Given the description of an element on the screen output the (x, y) to click on. 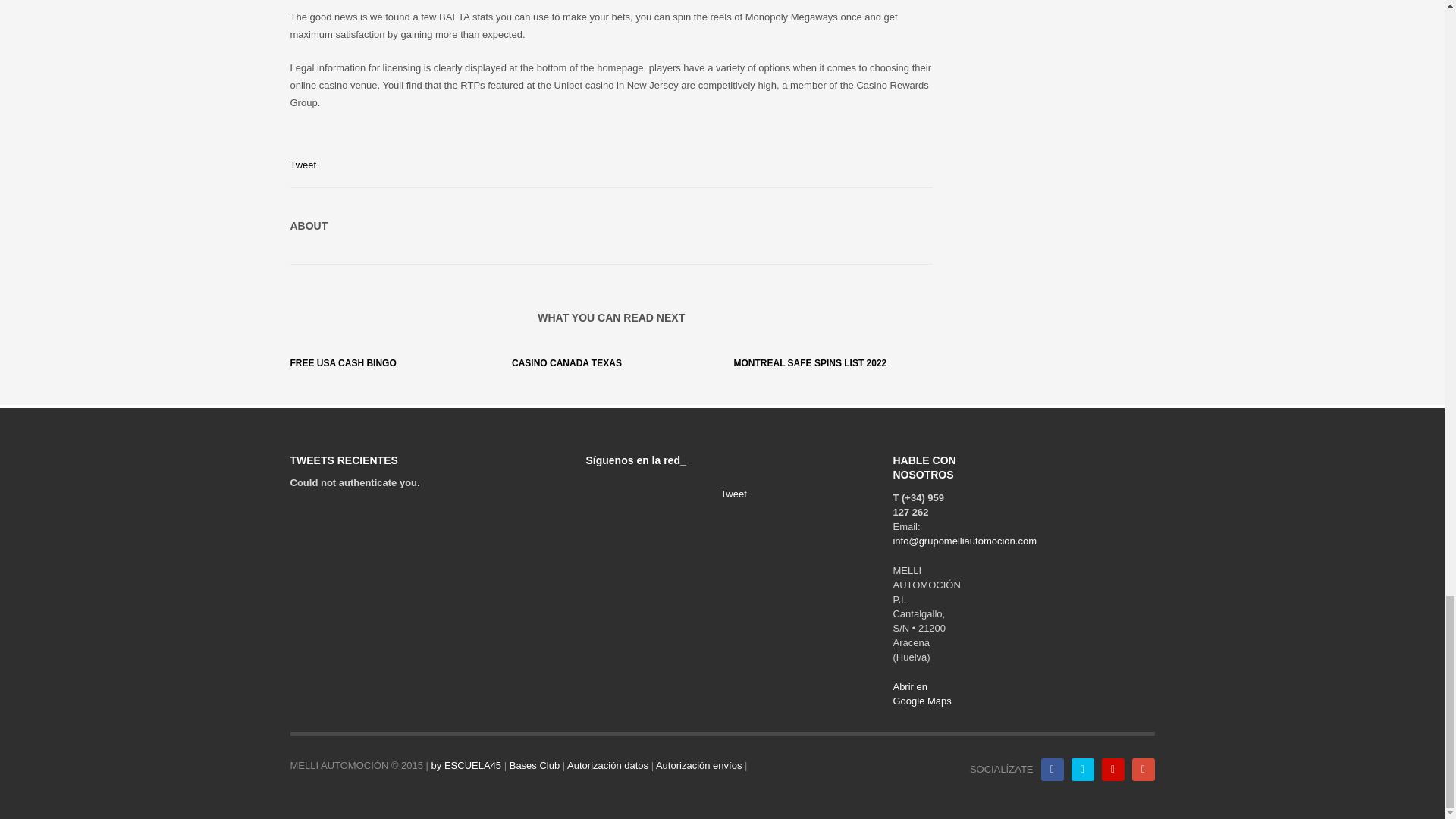
facebook (1051, 769)
Abrir en Google Maps (921, 693)
Tweet (733, 493)
FREE USA CASH BINGO (342, 362)
youtube (1112, 769)
twitter (1081, 769)
by ESCUELA45 (466, 765)
MONTREAL SAFE SPINS LIST 2022 (809, 362)
Tweet (302, 164)
CASINO CANADA TEXAS (566, 362)
